Given the description of an element on the screen output the (x, y) to click on. 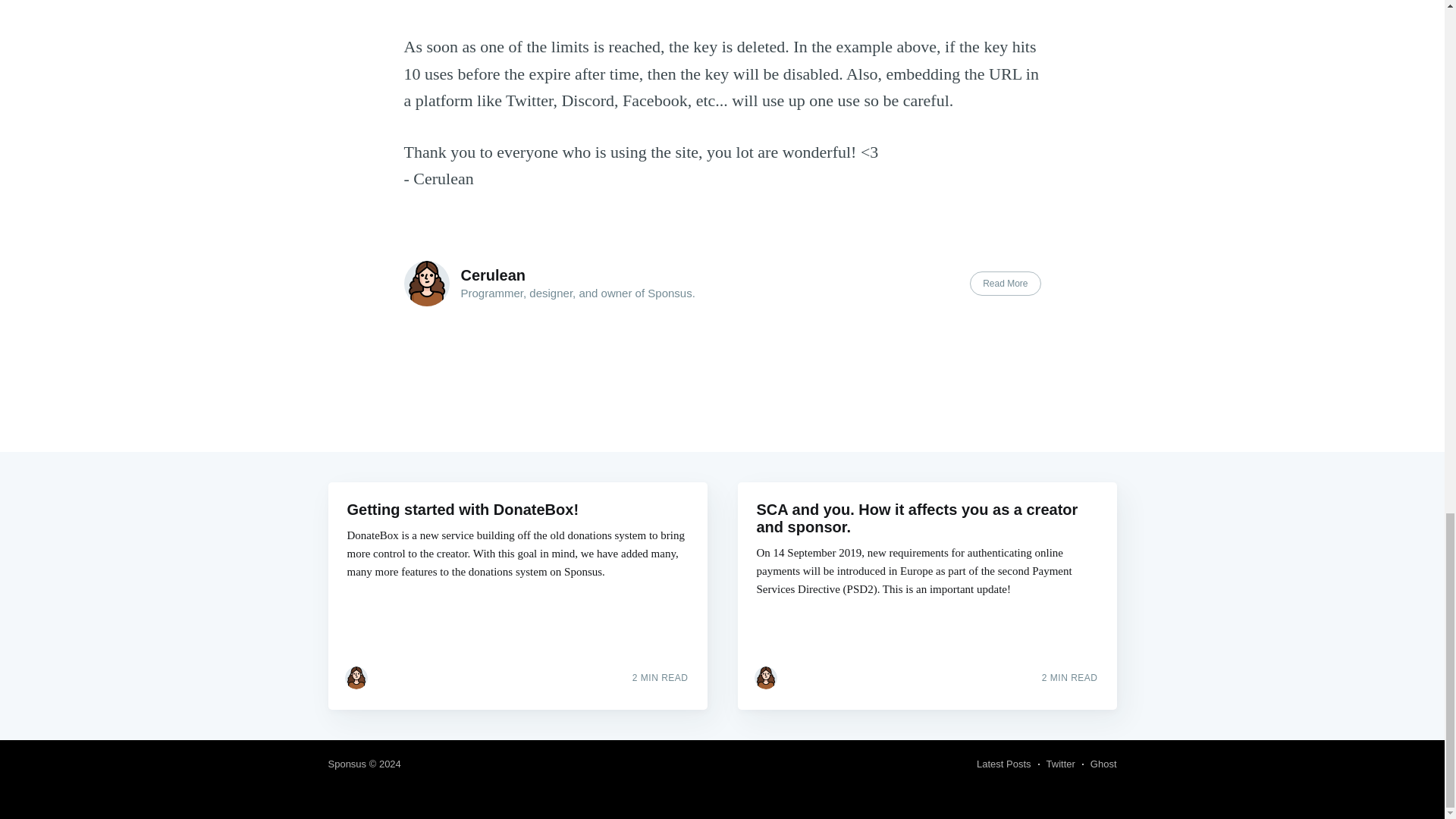
Ghost (1103, 764)
Read More (1005, 283)
Twitter (1060, 764)
Latest Posts (1003, 764)
Cerulean (493, 274)
Sponsus (346, 763)
